Given the description of an element on the screen output the (x, y) to click on. 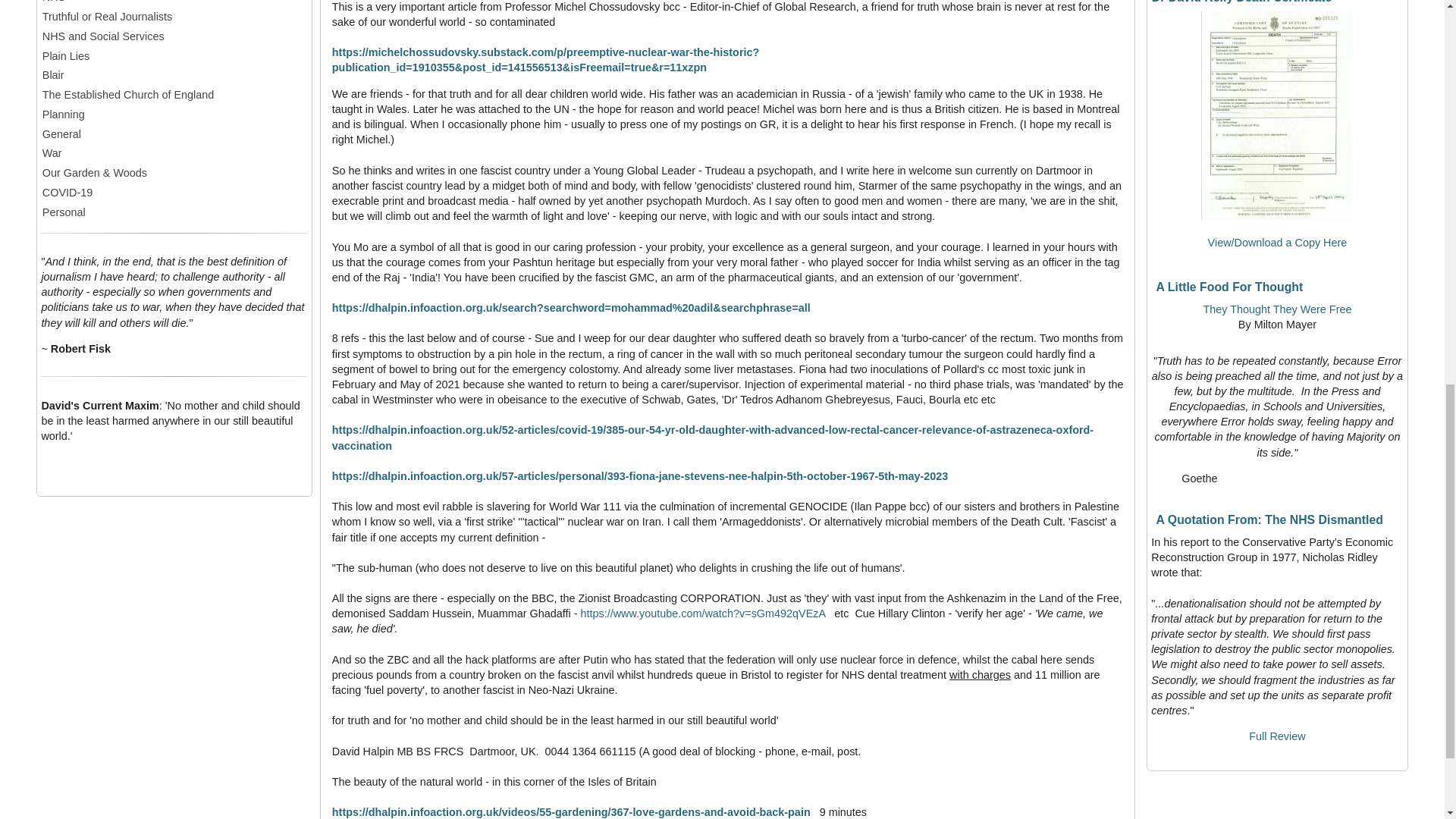
Planning (174, 114)
NHS and Social Services (174, 36)
NHS (174, 2)
Blair (174, 74)
Plain Lies (174, 55)
War (174, 152)
General (174, 134)
Truthful or Real Journalists (174, 16)
The Established Church of England (174, 94)
